Given the description of an element on the screen output the (x, y) to click on. 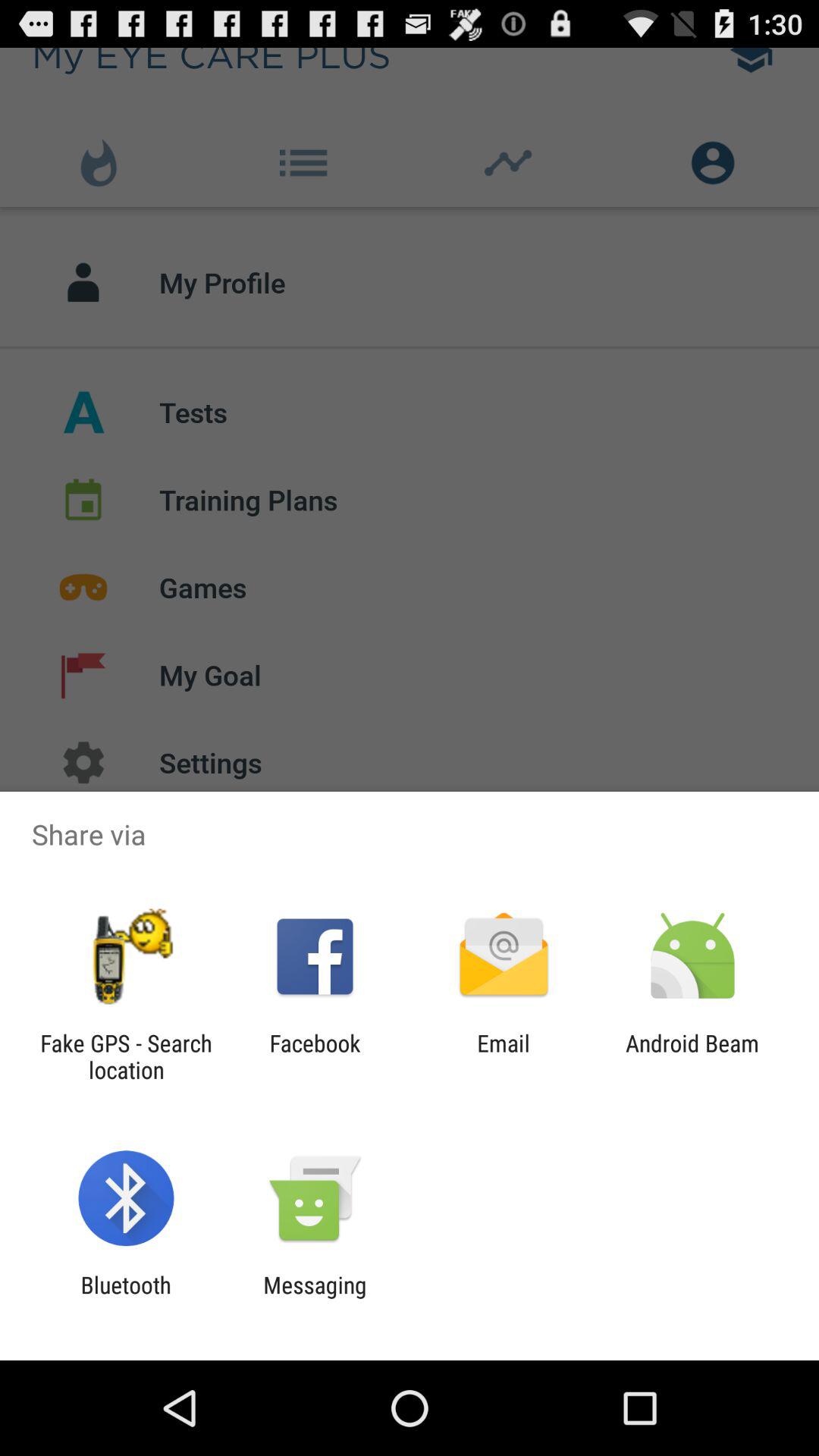
click the icon next to the facebook (503, 1056)
